Given the description of an element on the screen output the (x, y) to click on. 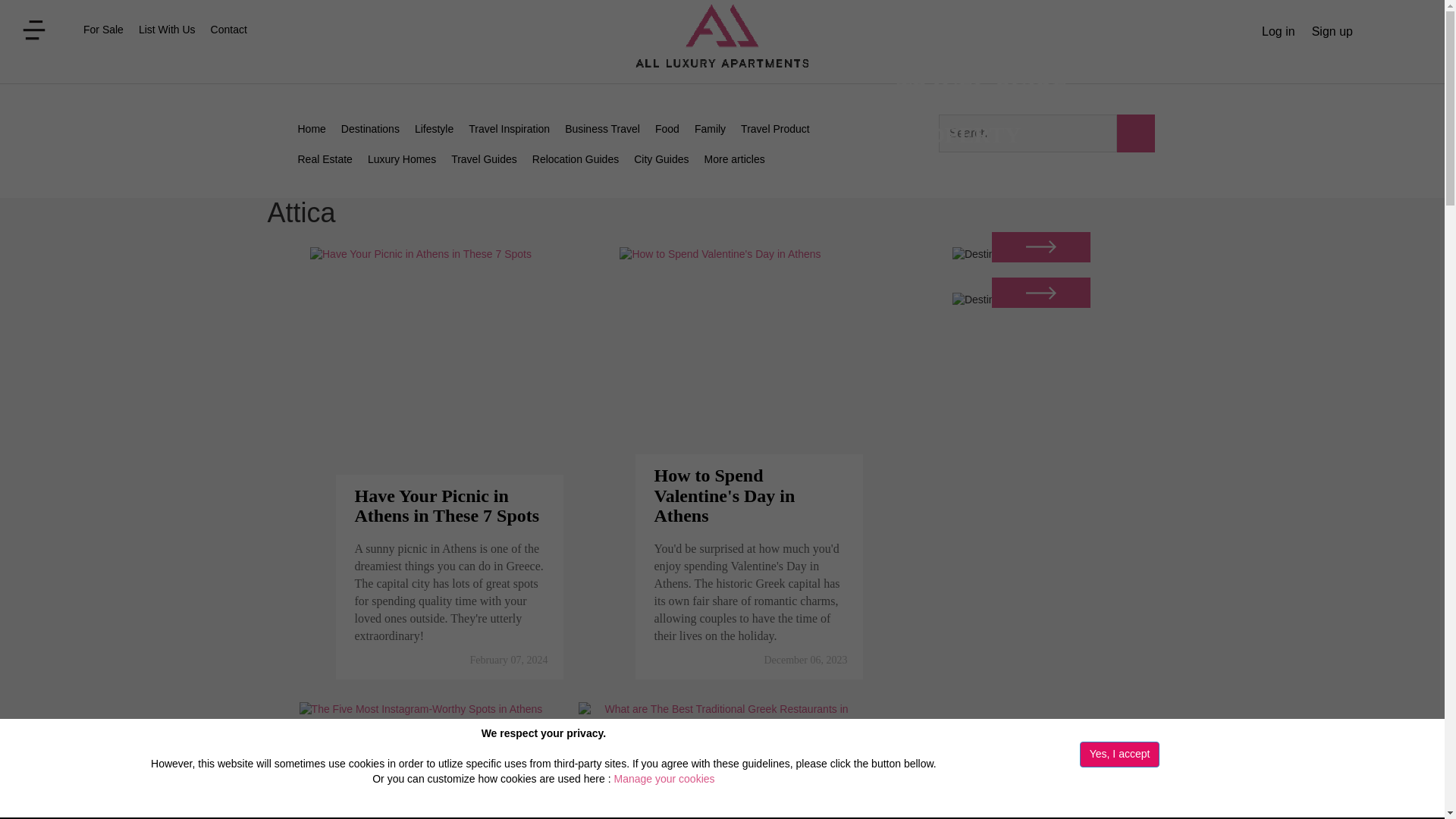
Business Travel (602, 129)
Luxury Homes (401, 159)
City Guides (660, 159)
Manage your cookies (663, 778)
For Sale (103, 30)
Relocation Guides (575, 159)
Home (311, 129)
Food (667, 129)
Travel Product (774, 129)
Travel Inspiration (509, 129)
Yes, I accept (1120, 754)
Log in (1278, 30)
Sign up (1331, 30)
